Given the description of an element on the screen output the (x, y) to click on. 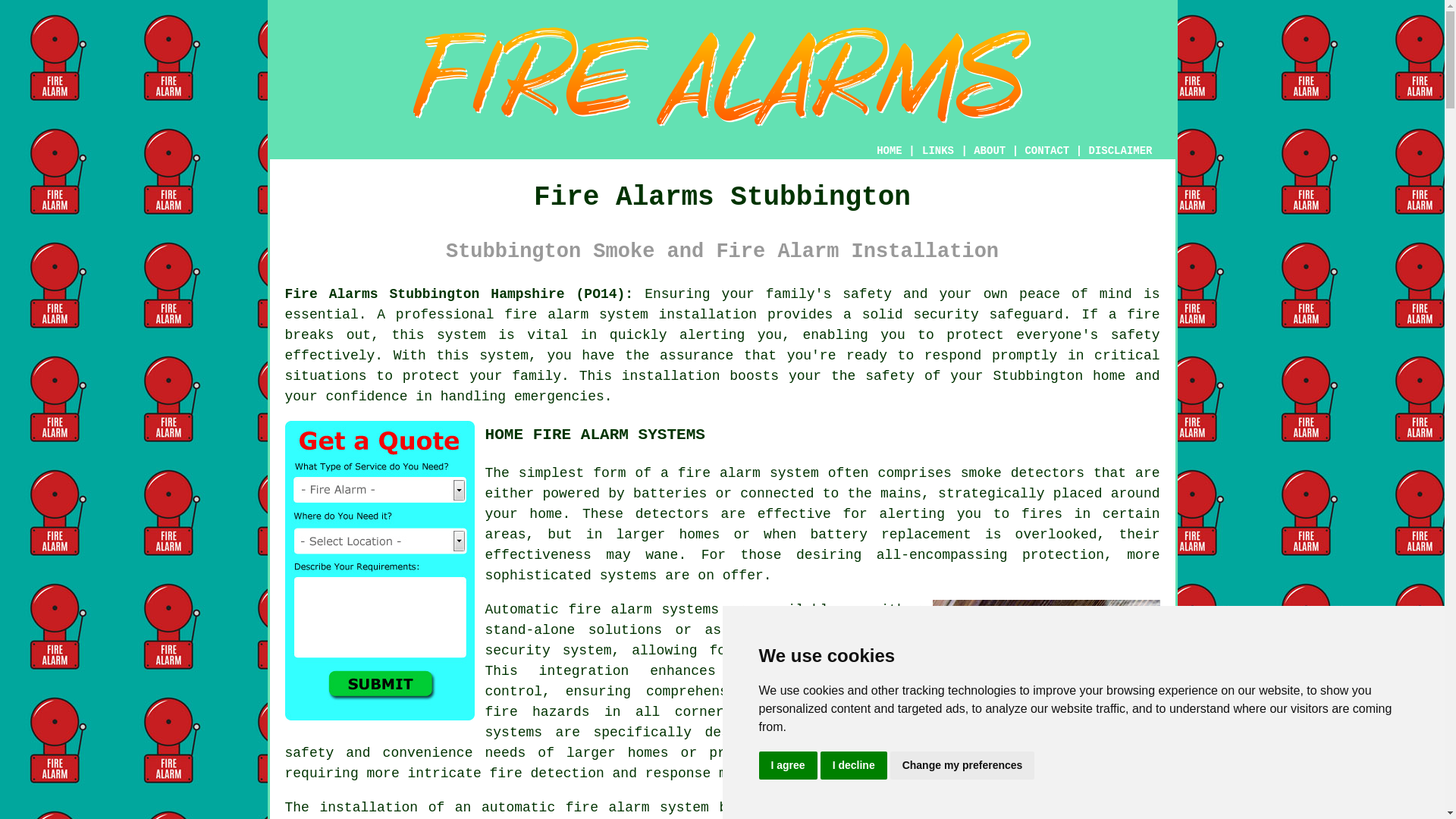
I decline (853, 765)
I agree (787, 765)
HOME (889, 150)
fire alarm (719, 473)
Fire Alarms Stubbington (721, 76)
LINKS (938, 151)
automatic fire alarm (565, 807)
fire alarm system (575, 314)
Change my preferences (962, 765)
